Given the description of an element on the screen output the (x, y) to click on. 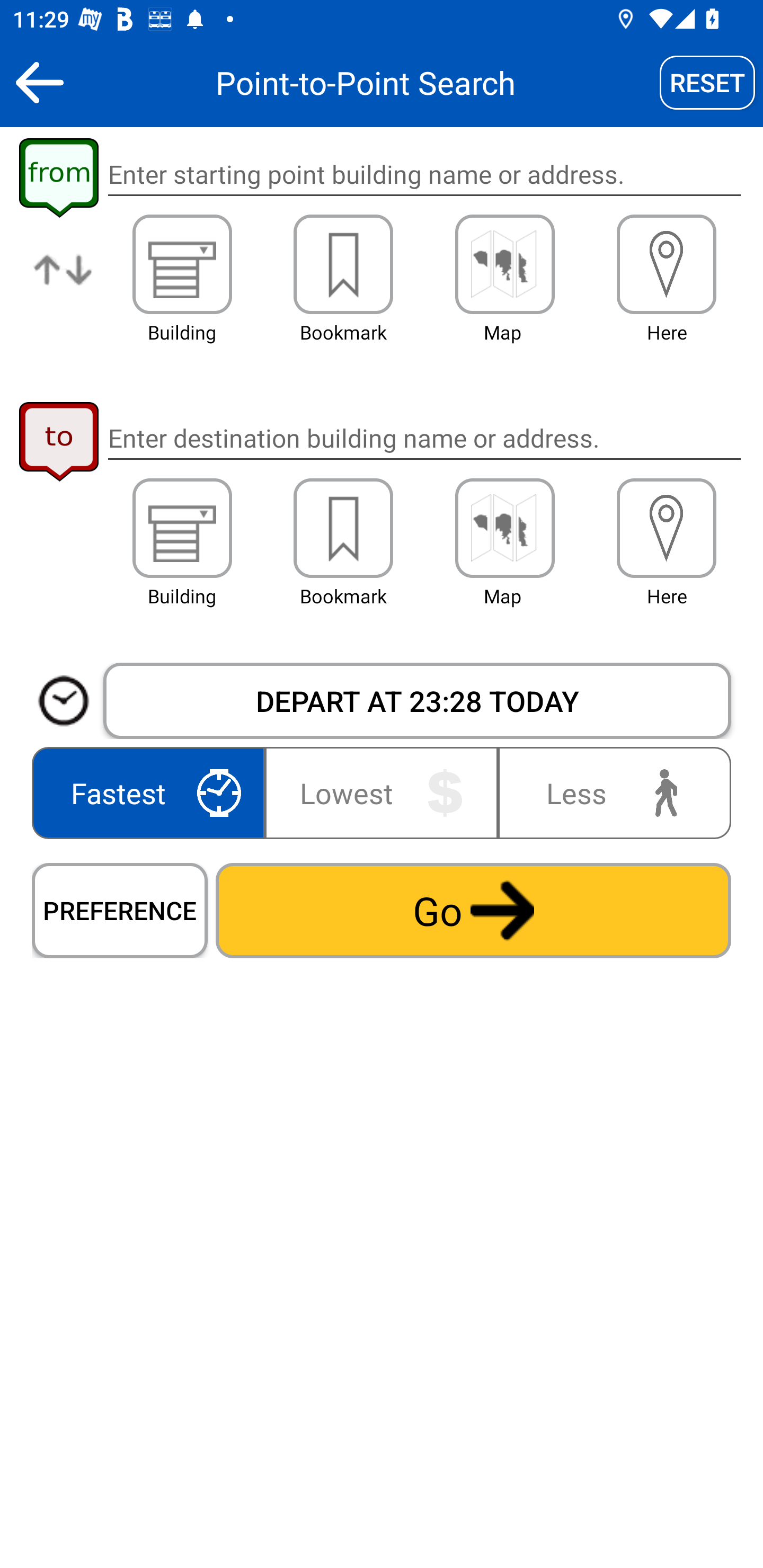
Back (39, 82)
RESET Reset (707, 81)
Enter starting point building name or address. (423, 174)
Building (181, 263)
Bookmarks (342, 263)
Select location on map (504, 263)
Here (666, 263)
Swap origin and destination (63, 284)
Enter destination building name or address. (423, 437)
Building (181, 528)
Bookmarks (342, 528)
Select location on map (504, 528)
Here (666, 528)
Lowest (381, 792)
Fastest selected (151, 792)
Less (610, 792)
PREFERENCE Preference (119, 910)
Go (472, 910)
